Given the description of an element on the screen output the (x, y) to click on. 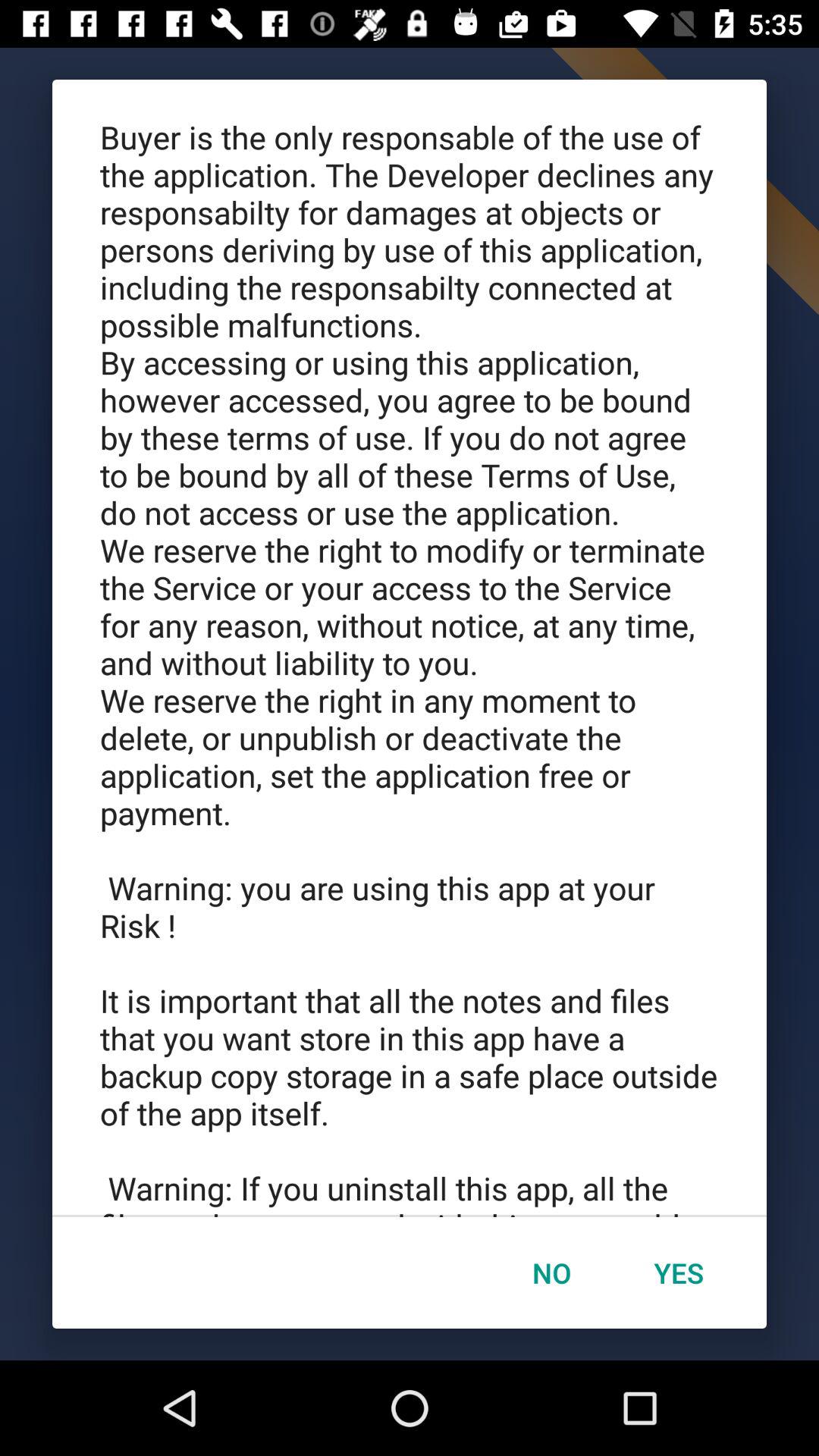
press the yes item (678, 1272)
